Given the description of an element on the screen output the (x, y) to click on. 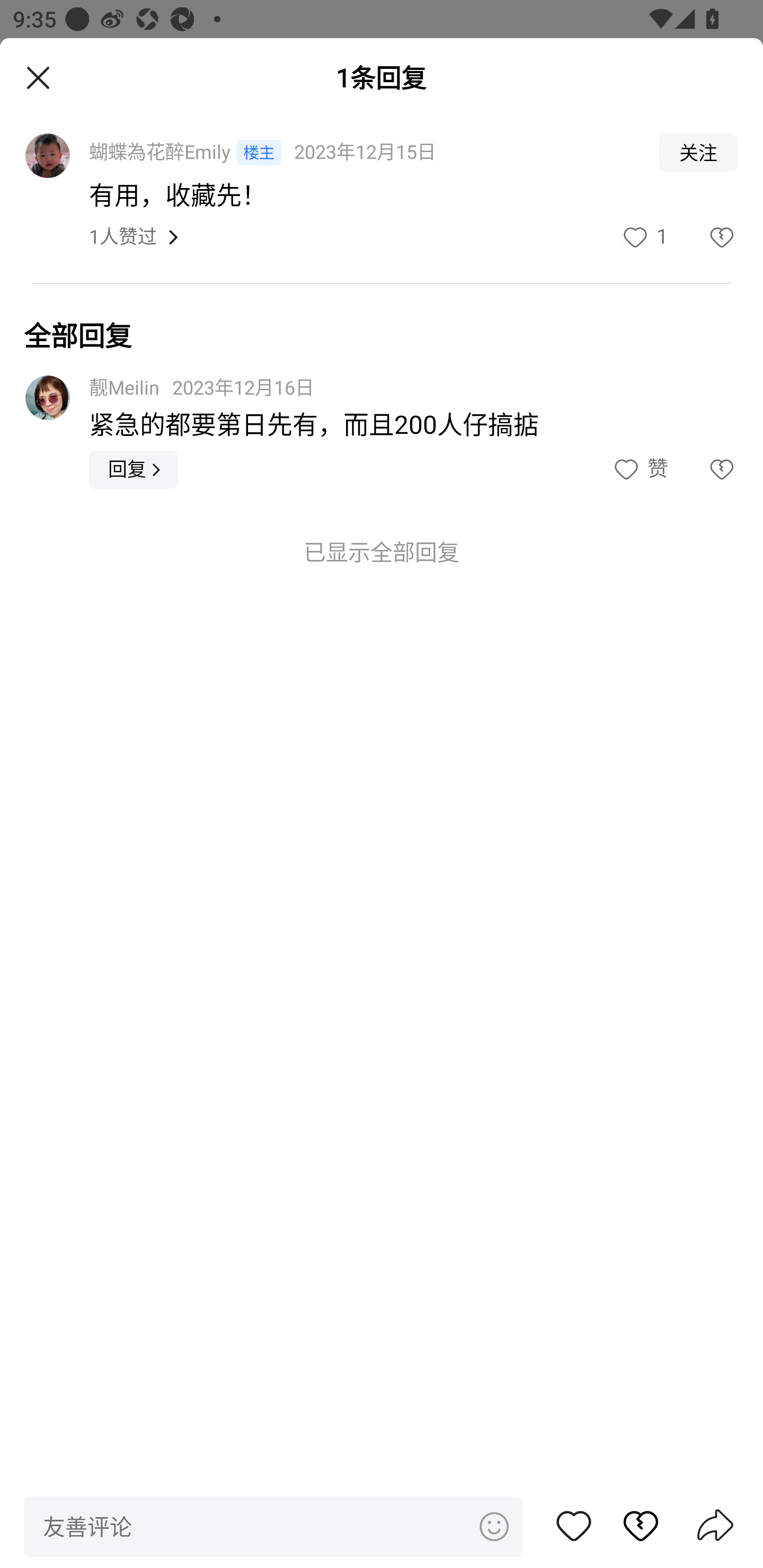
关闭 (38, 78)
关注 (698, 151)
蝴蝶為花醉Emily 2023年12月15日 (362, 151)
1人赞过 (123, 237)
赞1 赞 (643, 238)
踩 (702, 238)
靓Meilin 2023年12月16日 (201, 388)
回复 (133, 470)
赞 (638, 470)
踩 (702, 470)
分享 (715, 1526)
友善评论 表情 (272, 1526)
赞 (574, 1526)
踩 (630, 1526)
表情 (493, 1526)
